Given the description of an element on the screen output the (x, y) to click on. 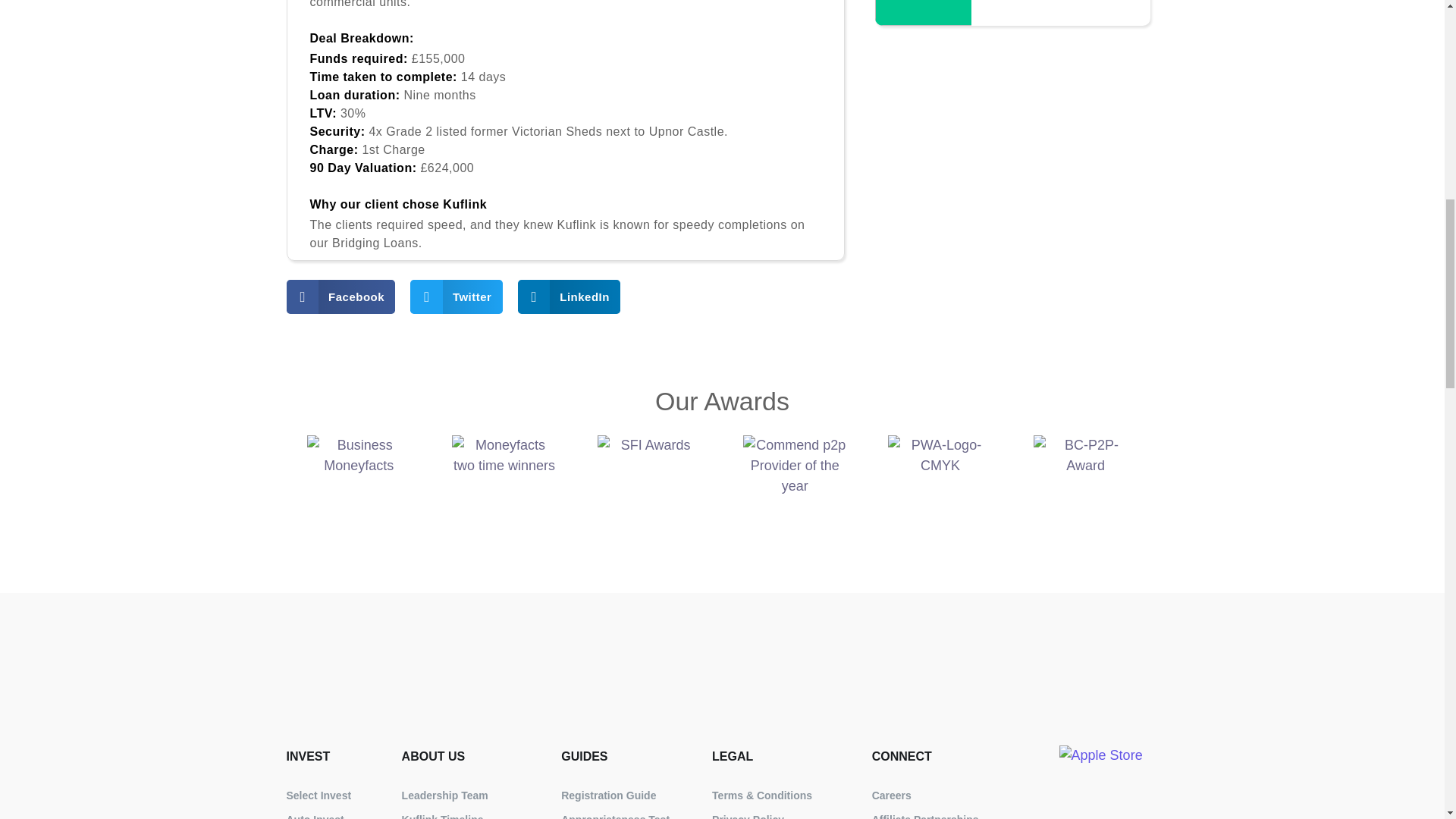
Screenshot 2024-01-26 151441 (929, 12)
SFI Awards (648, 486)
Apple Store (1100, 782)
Commend p2p Provider of the year (794, 486)
BC-P2P-Award (1085, 486)
Moneyfacts two time winners (503, 486)
Business Moneyfacts (358, 486)
Auto Invest (336, 813)
Select Invest (336, 794)
PWA-Logo-CMYK (939, 486)
